Given the description of an element on the screen output the (x, y) to click on. 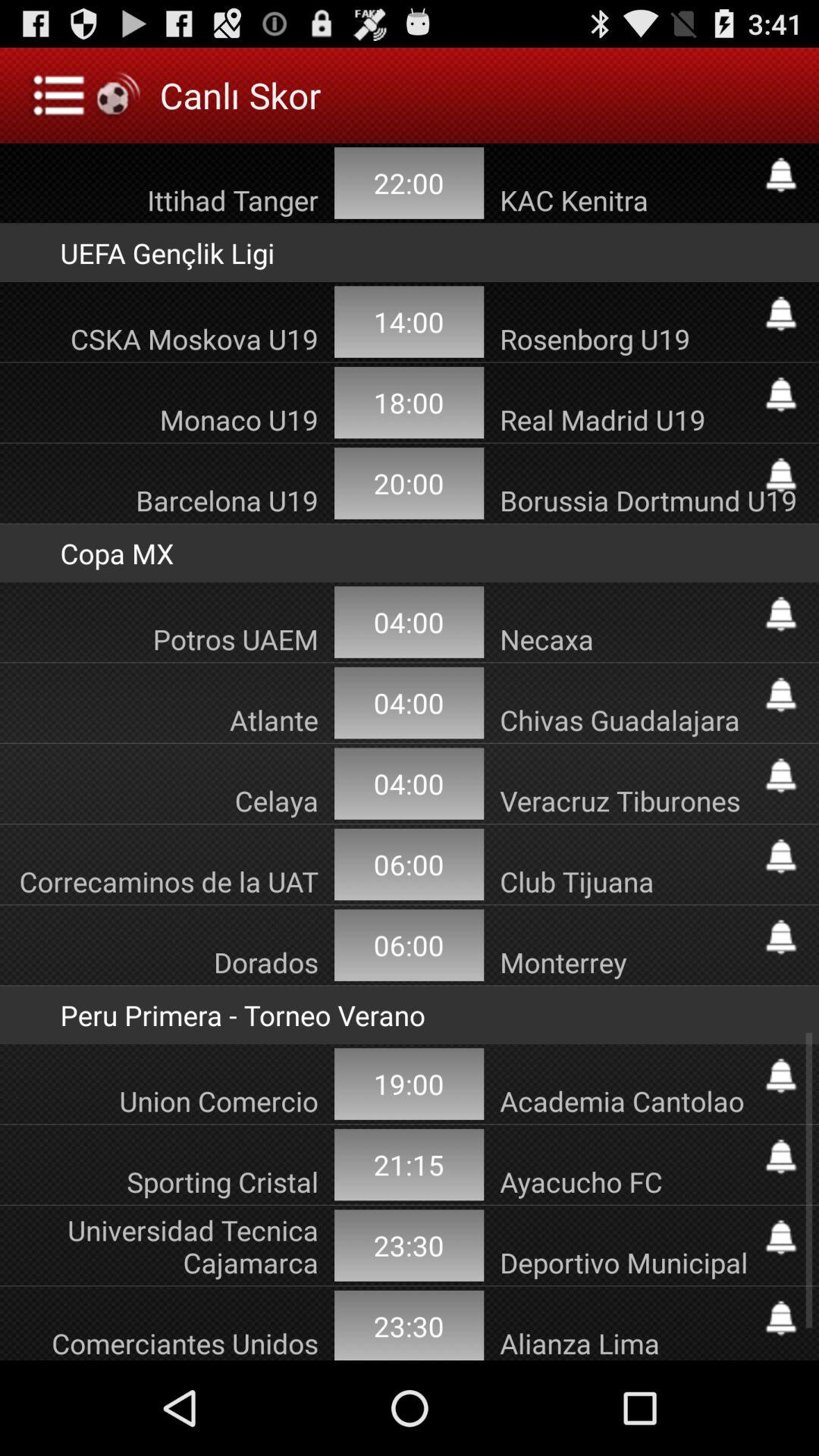
add allarm (780, 394)
